Given the description of an element on the screen output the (x, y) to click on. 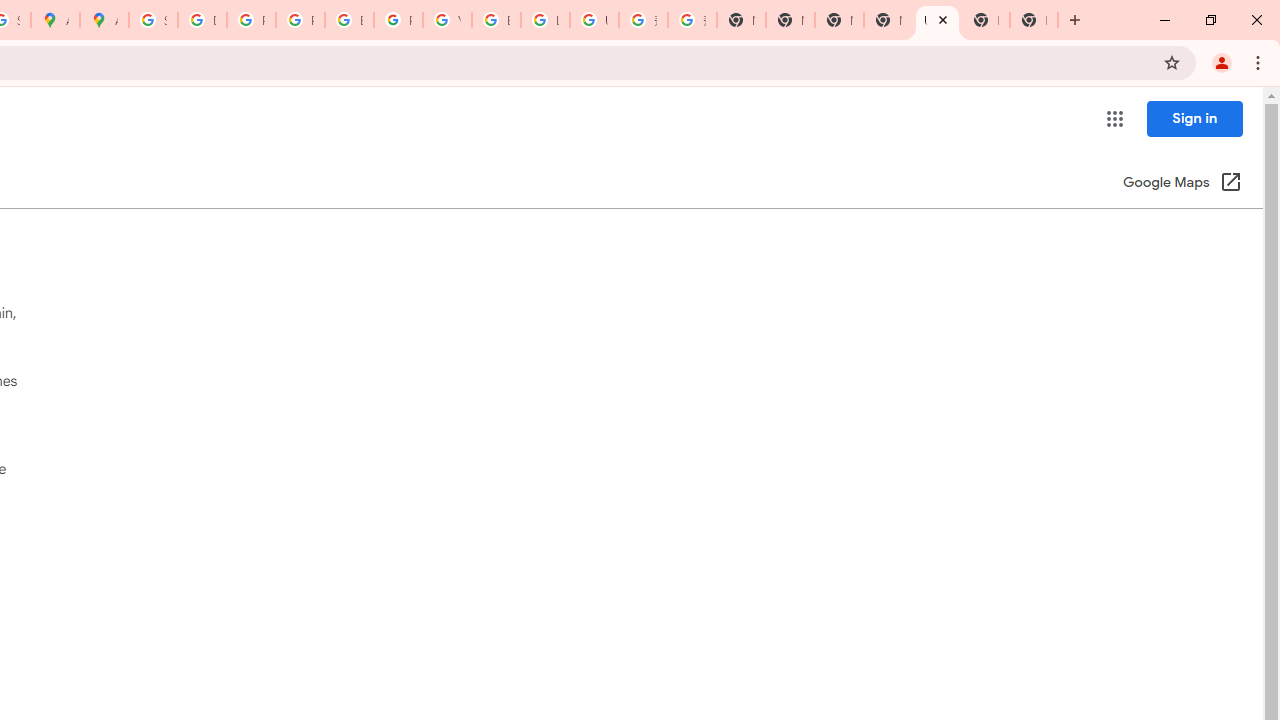
YouTube (447, 20)
Use Google Maps in Space - Google Maps Help (937, 20)
